Given the description of an element on the screen output the (x, y) to click on. 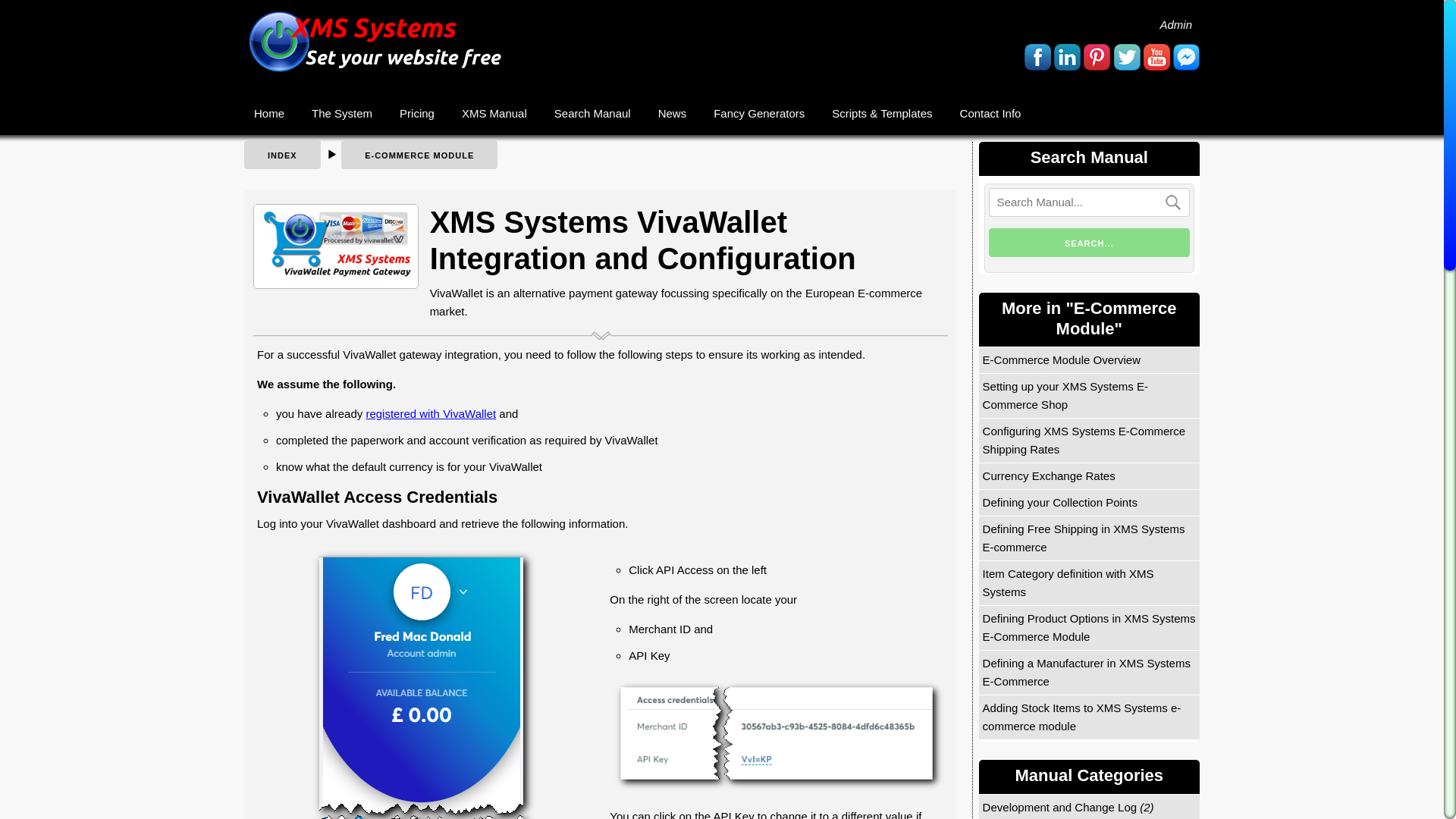
 Admin (1174, 24)
Search... (1088, 242)
XMS Manual (493, 113)
Pricing (416, 113)
Goes home. (269, 113)
LinkedIn (1067, 57)
XMS System Overview and General Information (341, 113)
Facebook Page (1038, 57)
YouTube (1156, 57)
Pinterest (1096, 57)
The System (341, 113)
twitter (1126, 57)
Facebook Messenger (1186, 57)
Home (269, 113)
